Given the description of an element on the screen output the (x, y) to click on. 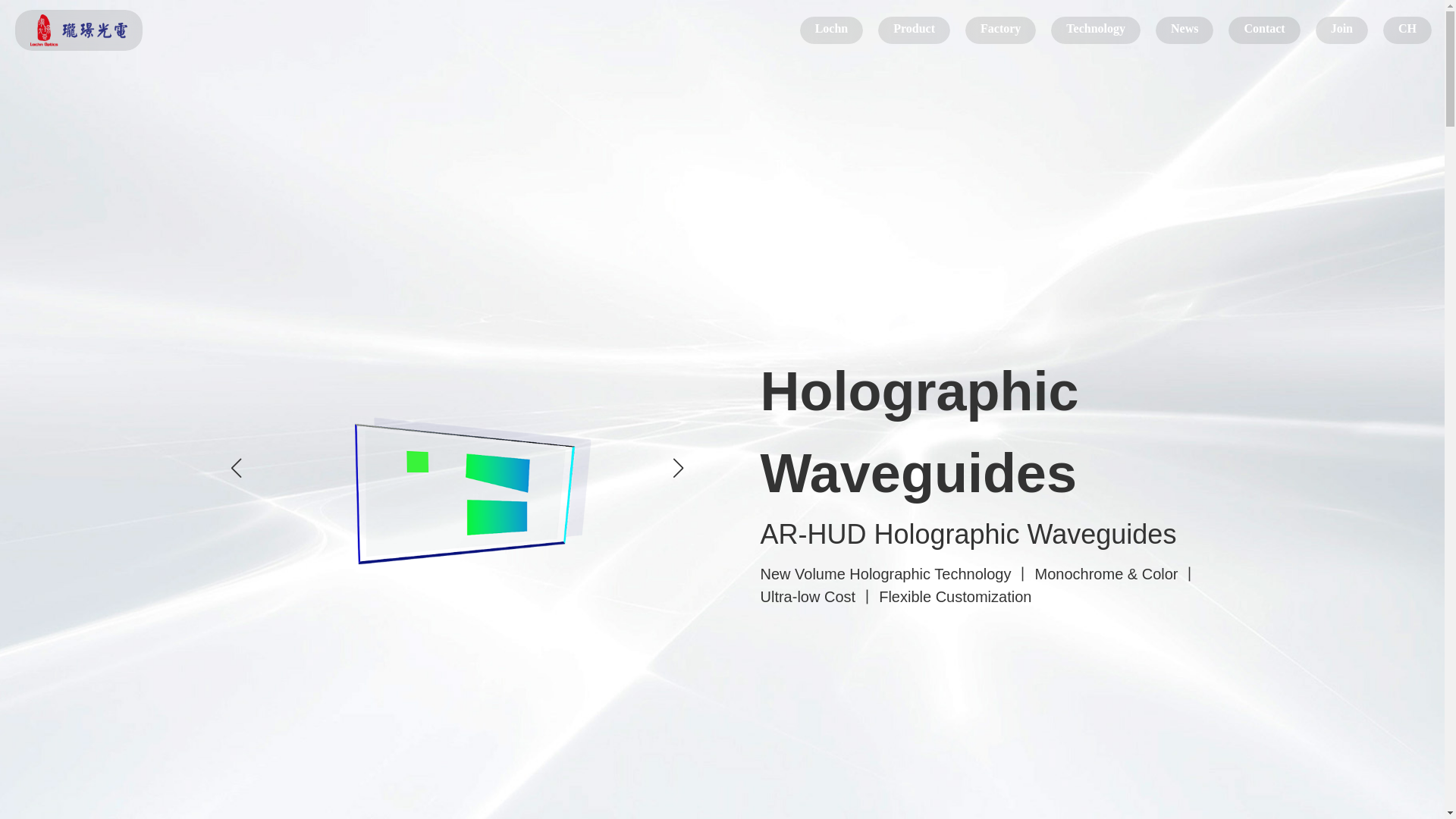
Lochn (831, 30)
Lochn (79, 29)
Join (1342, 30)
Technology (1095, 30)
Factory (1000, 30)
Contact (1264, 30)
Product (913, 30)
News (1184, 30)
CH (1407, 30)
